Given the description of an element on the screen output the (x, y) to click on. 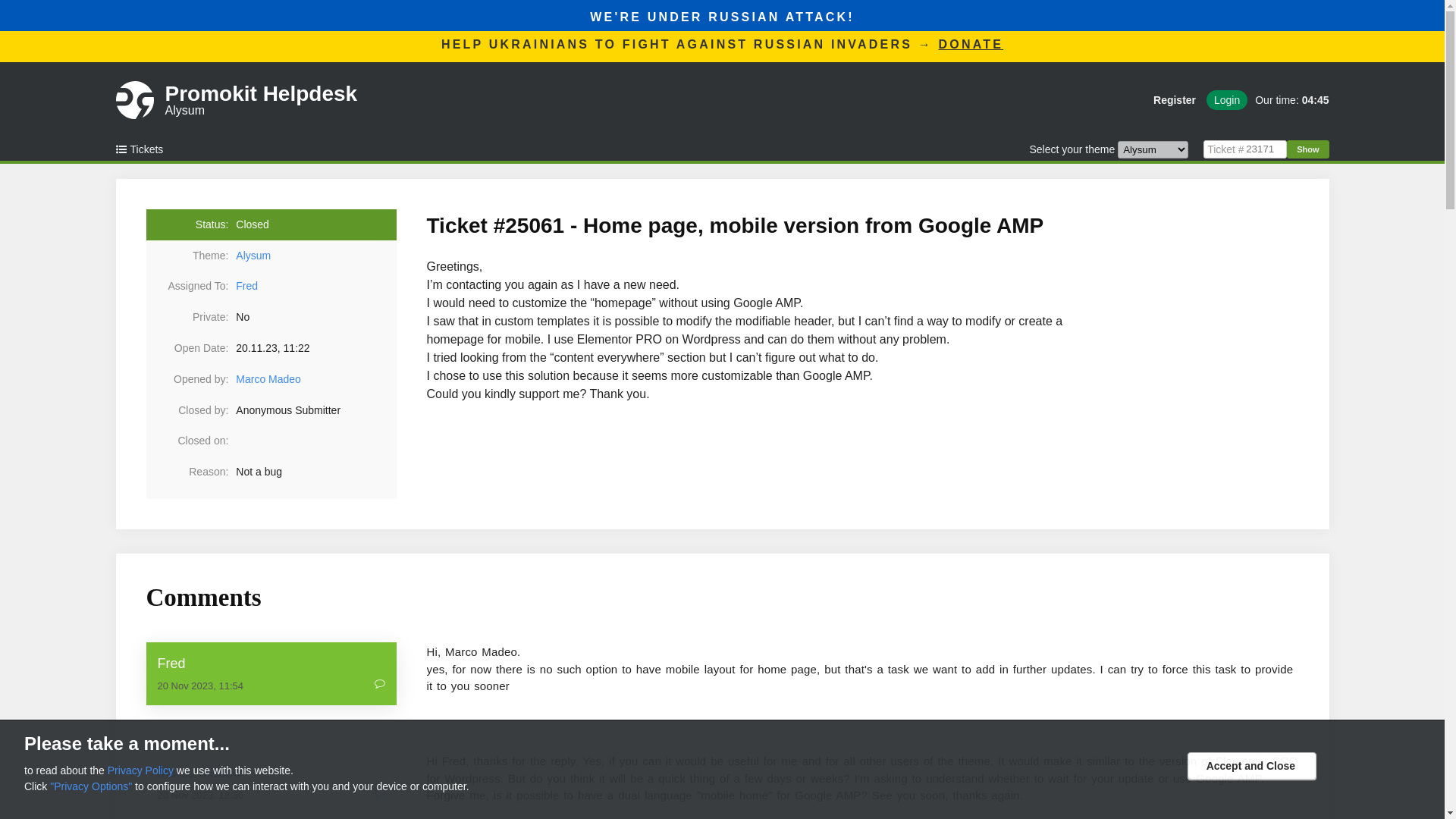
Alysum (315, 255)
Tickets (144, 149)
fred (246, 285)
20 Nov 2023, 11:22 (315, 348)
fred (271, 663)
Our time: 04:45 (1287, 99)
DONATE (971, 43)
Show (1307, 149)
Fred (271, 663)
Marco Madeo (268, 378)
Login (1227, 99)
marcomadeo (271, 772)
Register (261, 100)
Fred (1174, 99)
